Given the description of an element on the screen output the (x, y) to click on. 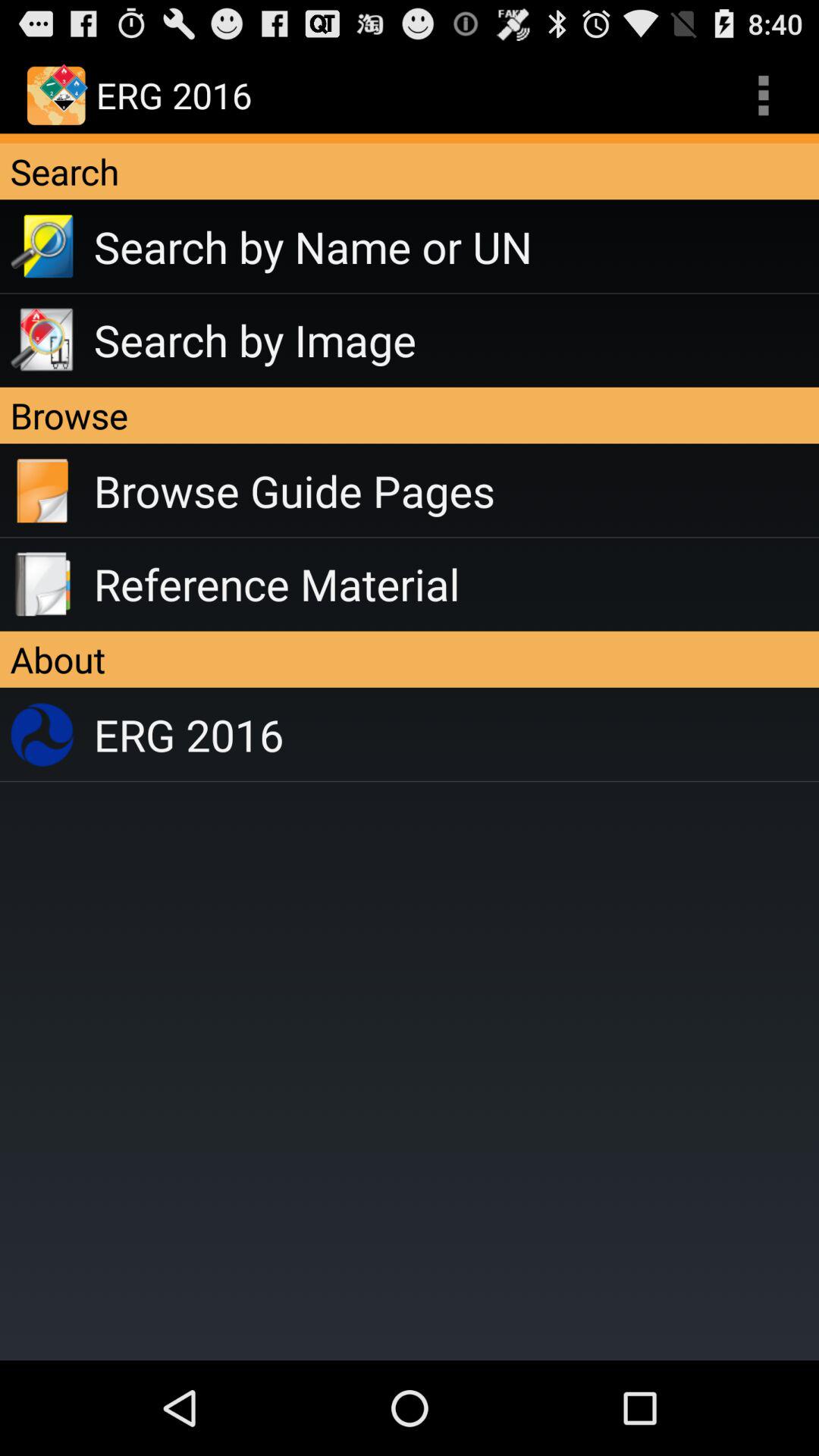
click app to the right of the erg 2016 app (763, 95)
